Given the description of an element on the screen output the (x, y) to click on. 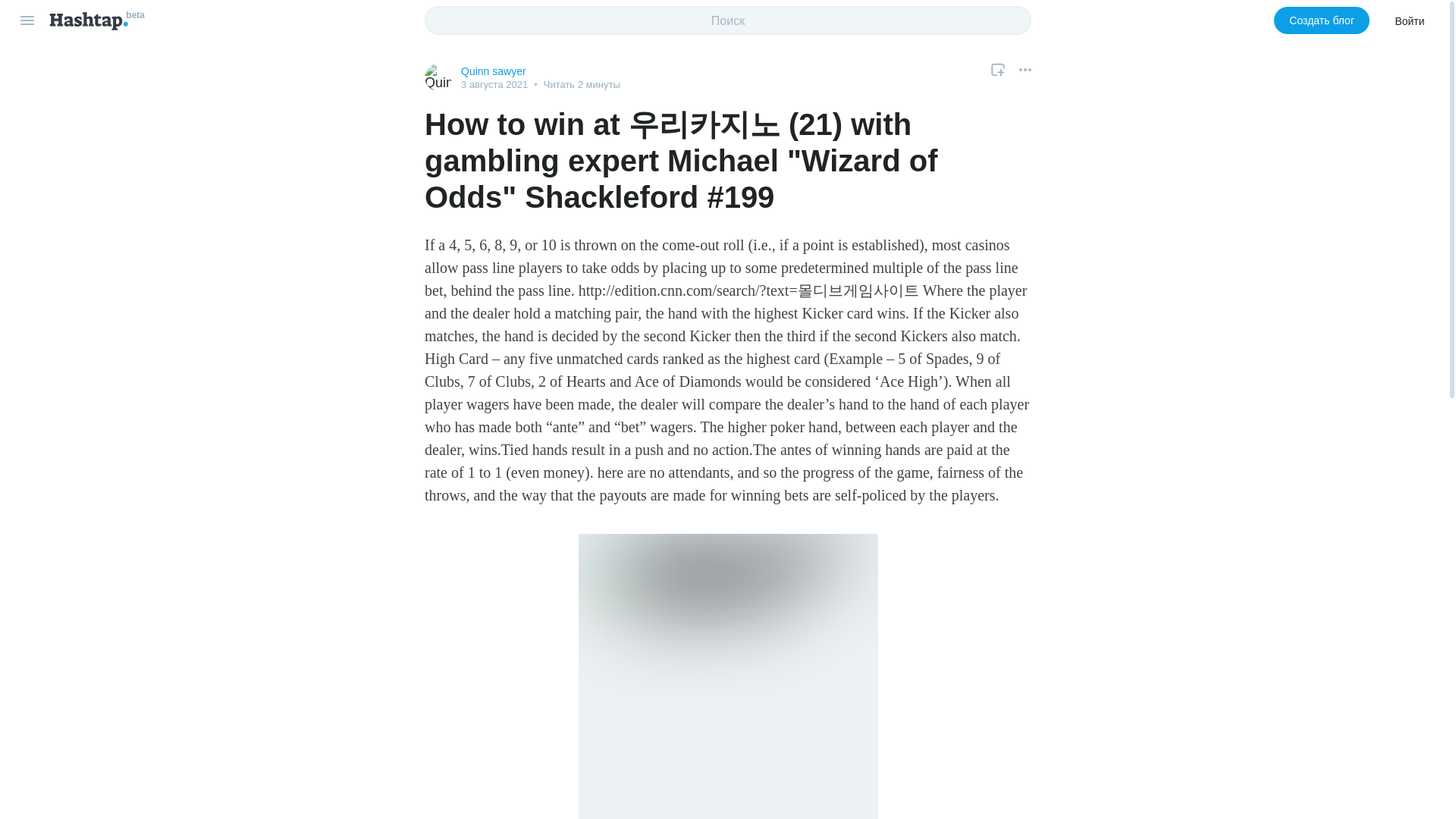
Q (438, 76)
Quinn sawyer (493, 70)
